Given the description of an element on the screen output the (x, y) to click on. 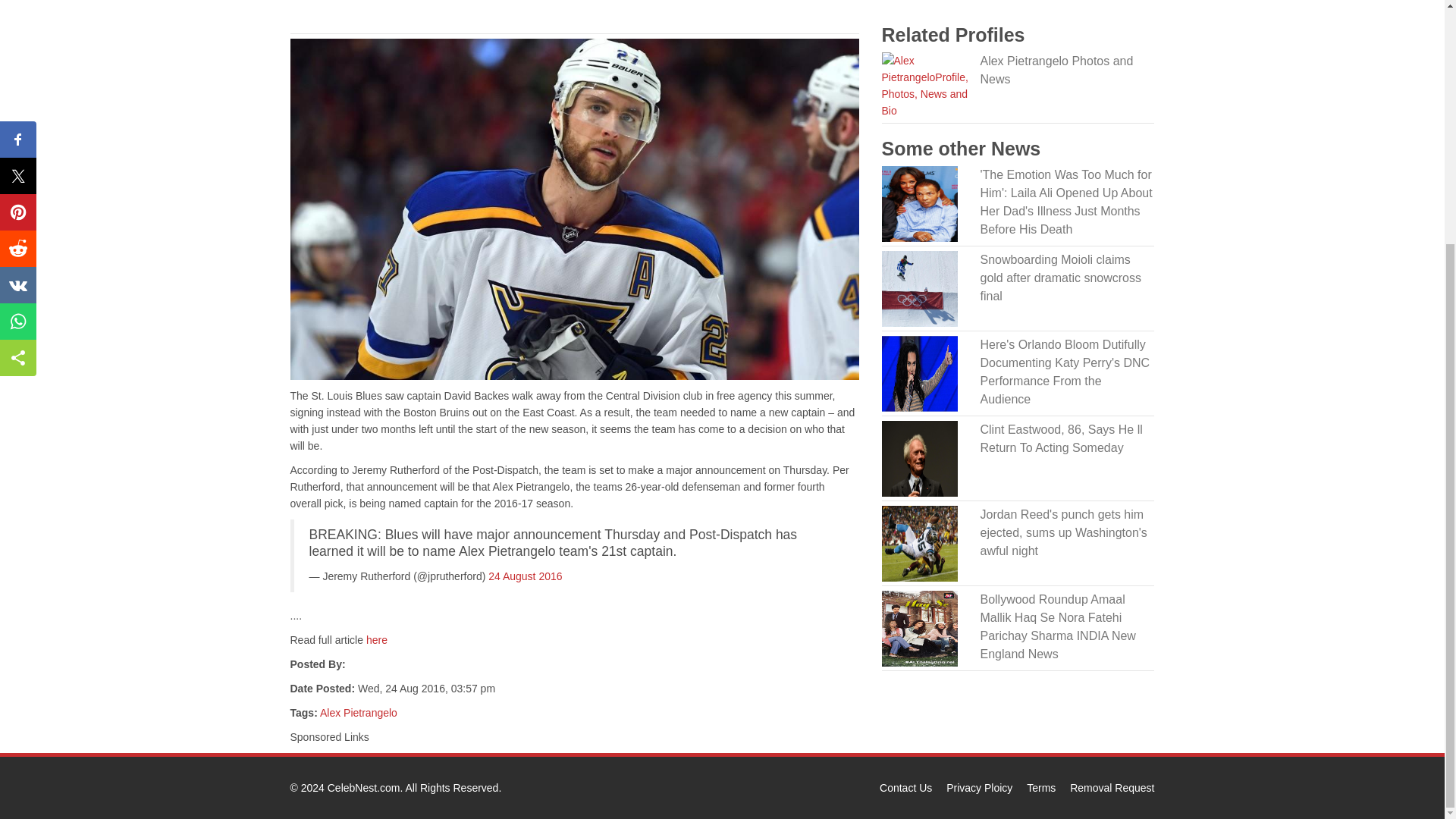
Alex Pietrangelo Photos and News (1066, 70)
Alex PietrangeloProfile, Photos, News and Bio (924, 84)
Celebrity Gossips, Celebrity News, Entertainment News (363, 787)
24 August 2016 (524, 576)
Clint Eastwood, 86, Says He ll Return To Acting Someday (1066, 438)
Terms (1040, 787)
Removal Request (1112, 787)
Privacy Ploicy (978, 787)
Alex Pietrangelo (358, 712)
here (376, 639)
Advertisement (574, 14)
Contact Us (905, 787)
